Given the description of an element on the screen output the (x, y) to click on. 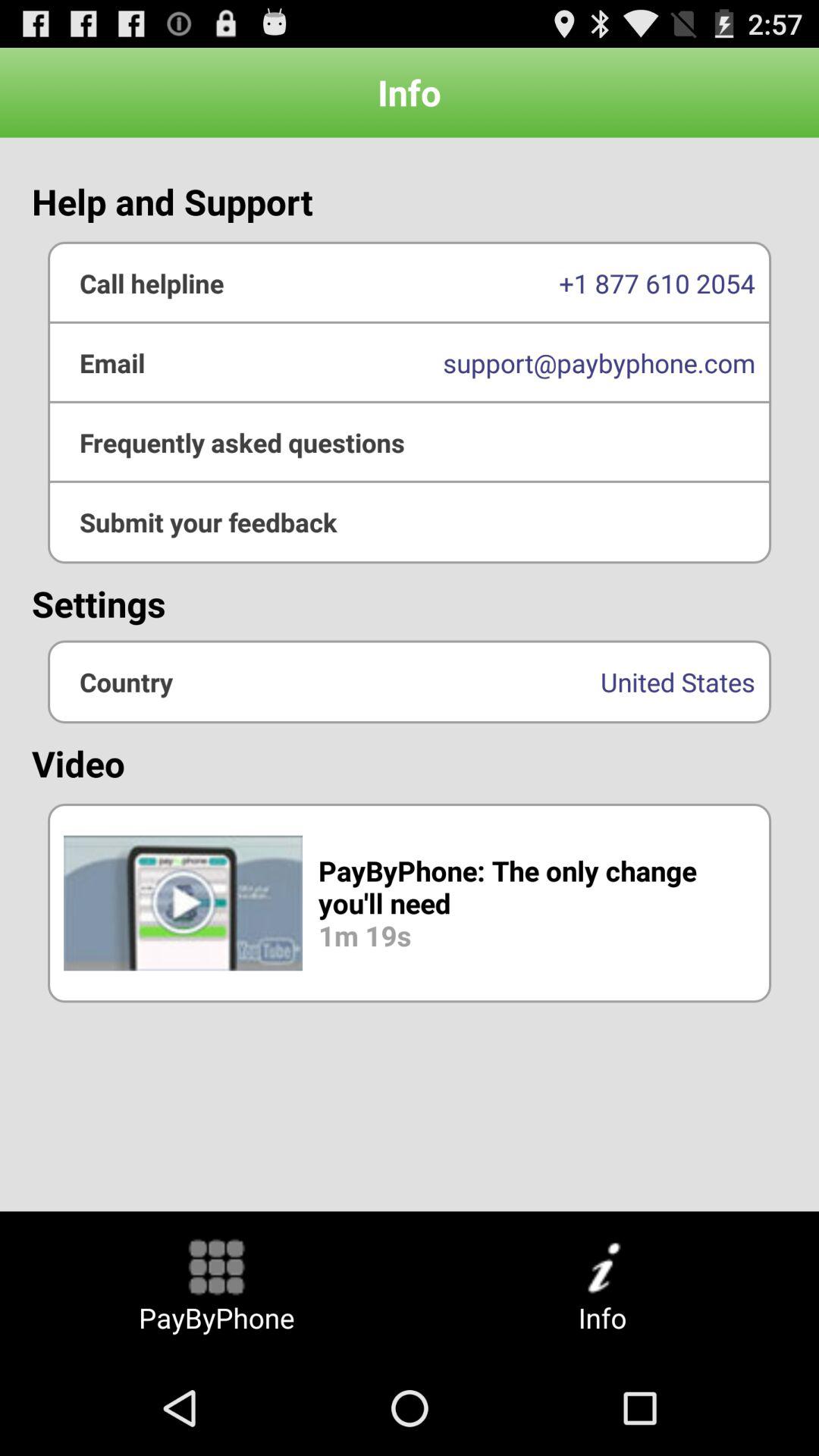
swipe until the support@paybyphone.com (409, 362)
